Given the description of an element on the screen output the (x, y) to click on. 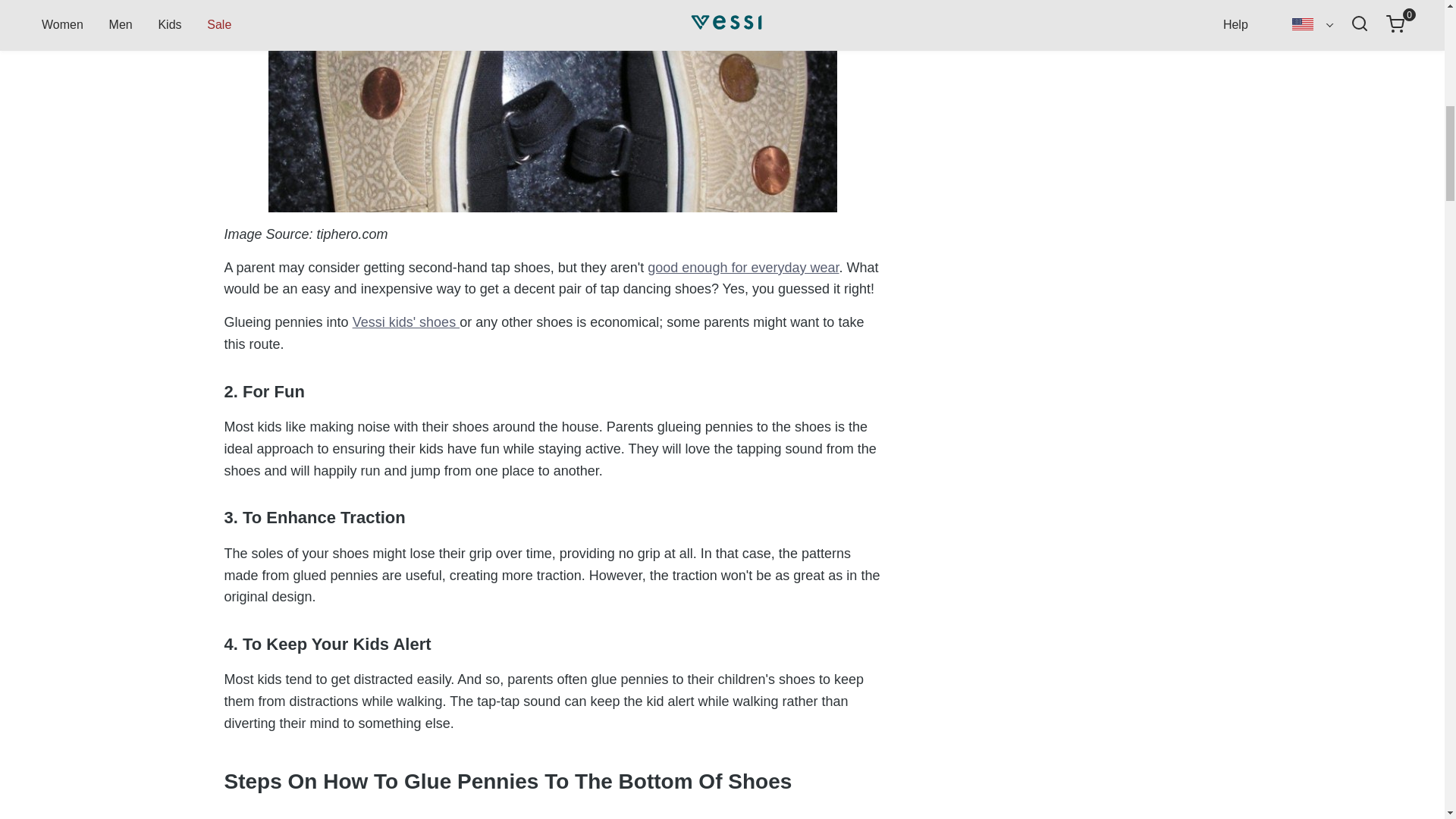
Facebook (963, 42)
Instagram (934, 42)
YouTube (1021, 42)
Tiktok (992, 42)
Twitter (1051, 42)
